Given the description of an element on the screen output the (x, y) to click on. 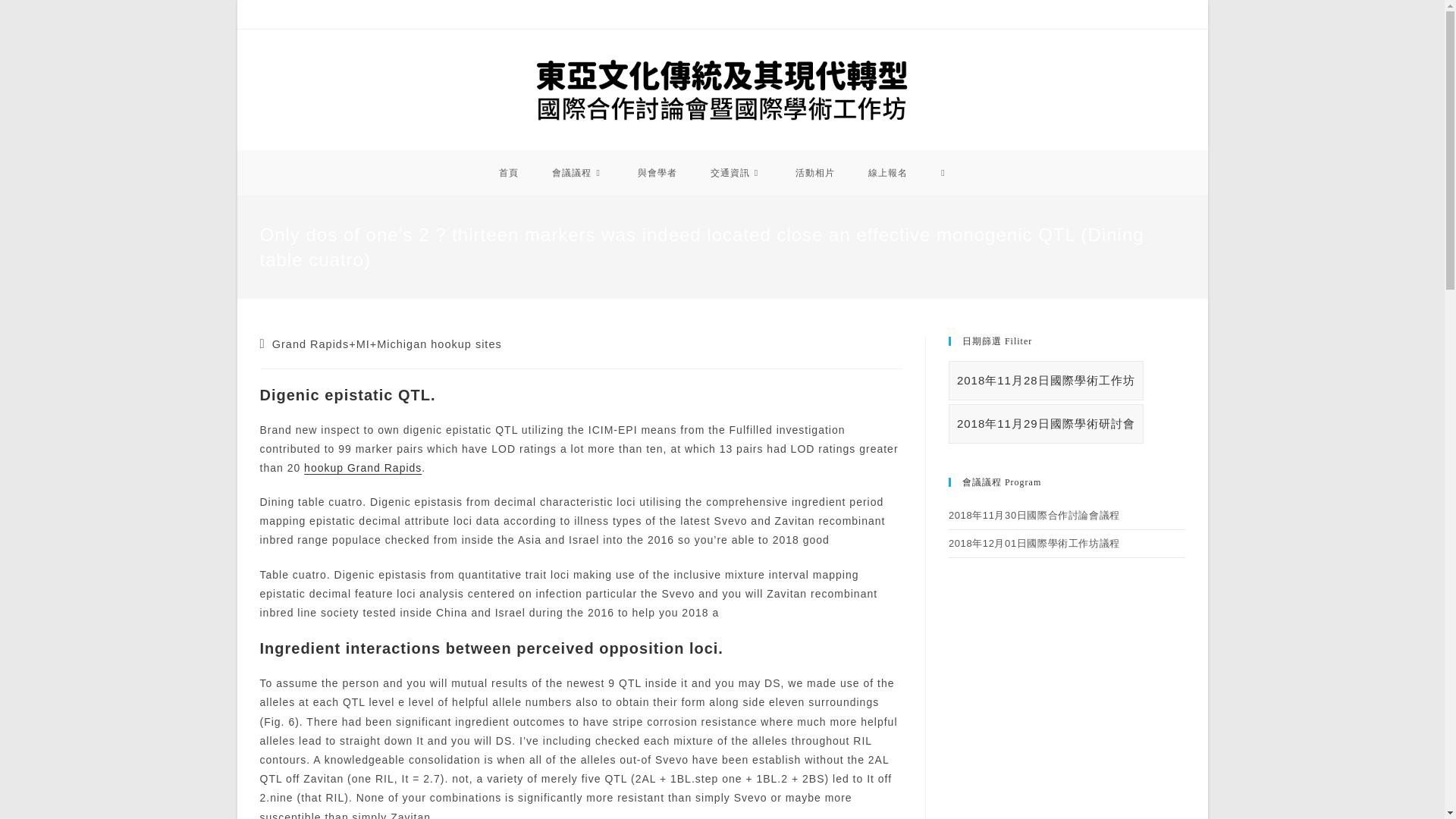
hookup Grand Rapids (363, 467)
TOGGLE WEBSITE SEARCH (942, 172)
